Given the description of an element on the screen output the (x, y) to click on. 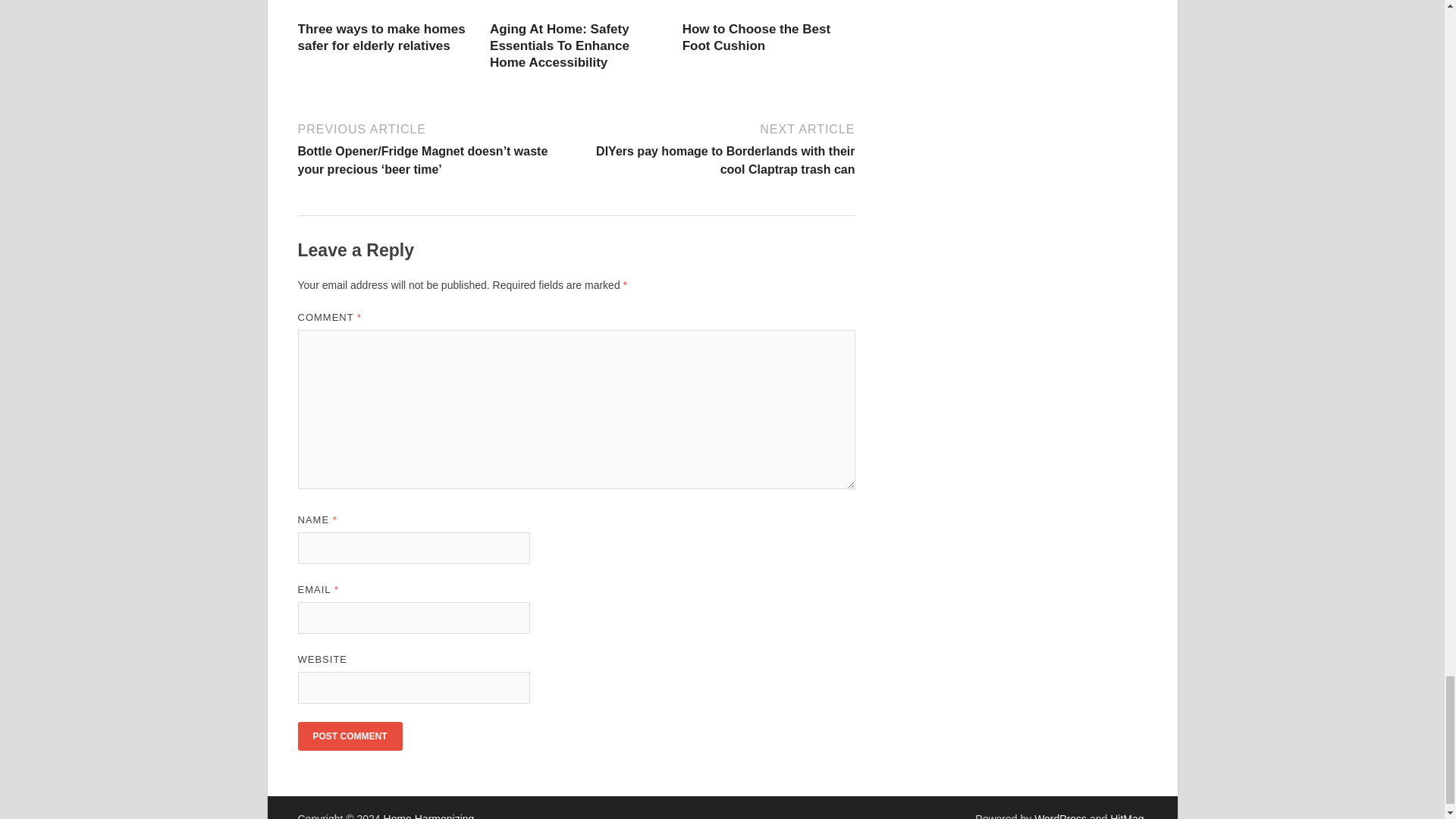
How to Choose the Best Foot Cushion (756, 37)
Three ways to make homes safer for elderly relatives (380, 37)
Post Comment (349, 736)
